Given the description of an element on the screen output the (x, y) to click on. 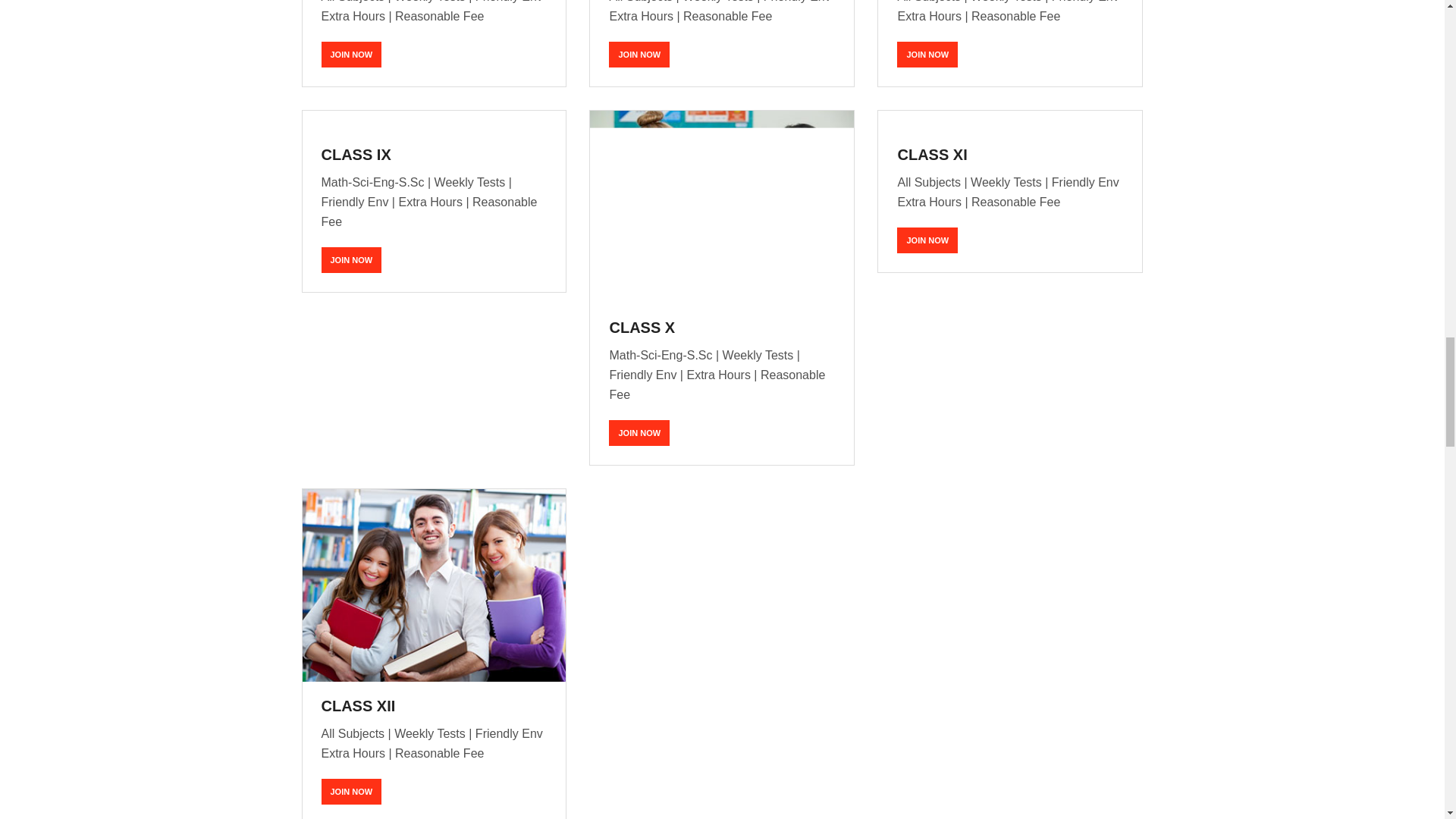
CLASS XII (358, 705)
JOIN NOW (927, 54)
CLASS XI (931, 154)
JOIN NOW (927, 240)
JOIN NOW (351, 259)
JOIN NOW (351, 791)
JOIN NOW (638, 54)
JOIN NOW (638, 432)
CLASS IX (356, 154)
CLASS X (641, 327)
